Given the description of an element on the screen output the (x, y) to click on. 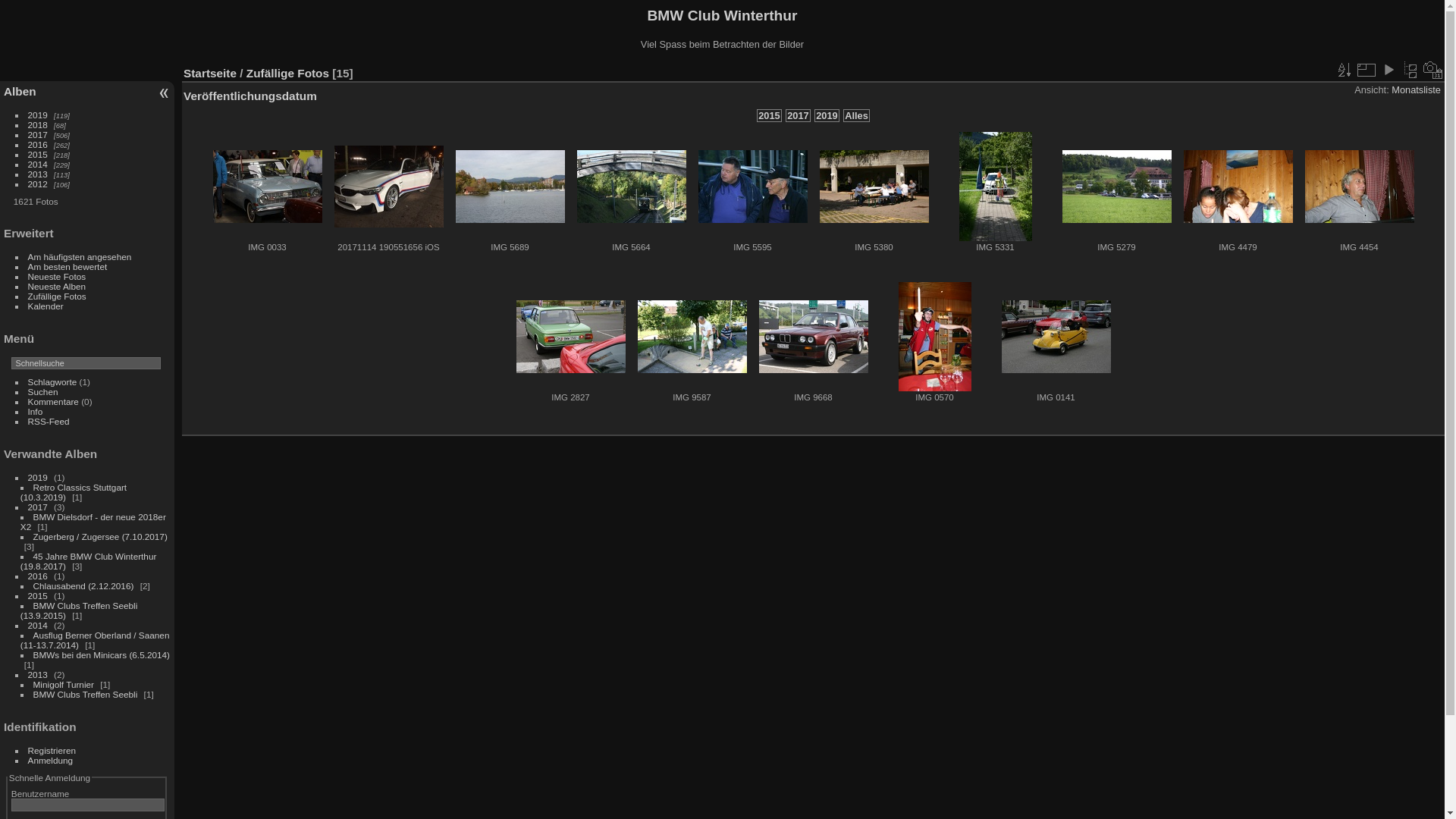
2015 Element type: text (37, 595)
2017 Element type: text (797, 115)
2014 Element type: text (37, 164)
2017 Element type: text (37, 506)
IMG 5279 (1786 besuche) Element type: hover (1115, 186)
Neueste Alben Element type: text (57, 286)
2012 Element type: text (37, 183)
BMW Dielsdorf - der neue 2018er X2 Element type: text (93, 521)
IMG 5331 (727 besuche) Element type: hover (994, 186)
Alben Element type: text (19, 90)
2019 Element type: text (37, 114)
IMG 0570 (1419 besuche) Element type: hover (933, 336)
IMG 0141 (2290 besuche, bewertung 4.98) Element type: hover (1055, 336)
BMW Clubs Treffen Seebli (13.9.2015) Element type: text (79, 610)
Chlausabend (2.12.2016) Element type: text (83, 585)
BMW Clubs Treffen Seebli Element type: text (85, 694)
2016 Element type: text (37, 144)
2019 Element type: text (37, 477)
45 Jahre BMW Club Winterthur (19.8.2017) Element type: text (88, 561)
Neueste Fotos Element type: text (57, 276)
Anmeldung Element type: text (50, 760)
Zugerberg / Zugersee (7.10.2017) Element type: text (100, 536)
2015 Element type: text (37, 154)
BMWs bei den Minicars (6.5.2014) Element type: text (101, 654)
Suchen Element type: text (43, 391)
2017 Element type: text (37, 134)
IMG 5595 (1395 besuche) Element type: hover (751, 186)
2013 Element type: text (37, 674)
2019 Element type: text (826, 115)
Startseite Element type: text (209, 72)
RSS-Feed Element type: text (48, 421)
2013 Element type: text (37, 173)
IMG 2827 (3677 besuche, bewertung 4.98) Element type: hover (569, 336)
Alles Element type: text (856, 115)
Monatsliste Element type: text (1415, 89)
Retro Classics Stuttgart (10.3.2019) Element type: text (73, 492)
IMG 4479 (1157 besuche) Element type: hover (1237, 186)
Am besten bewertet Element type: text (67, 266)
Fotos nach Aufnahmedatum anzeigen Element type: hover (1433, 69)
IMG 9587 (3431 besuche) Element type: hover (691, 336)
Diashow Element type: hover (1388, 69)
Ausflug Berner Oberland / Saanen (11-13.7.2014) Element type: text (94, 639)
2016 Element type: text (37, 575)
IMG 4454 (1003 besuche) Element type: hover (1358, 186)
Schlagworte Element type: text (52, 381)
IMG 9668 (2599 besuche) Element type: hover (812, 336)
20171114 190551656 iOS (2332 besuche) Element type: hover (387, 186)
2014 Element type: text (37, 625)
Minigolf Turnier Element type: text (63, 684)
IMG 5380 (529 besuche) Element type: hover (873, 186)
Registrieren Element type: text (51, 750)
IMG 5689 (1183 besuche) Element type: hover (509, 186)
Sortierreihenfolge Element type: hover (1343, 69)
Kommentare Element type: text (53, 401)
IMG 0033 (1742 besuche) Element type: hover (266, 186)
2015 Element type: text (768, 115)
2018 Element type: text (37, 124)
Kalender Element type: text (45, 305)
Info Element type: text (35, 411)
IMG 5664 (1011 besuche) Element type: hover (630, 186)
